Given the description of an element on the screen output the (x, y) to click on. 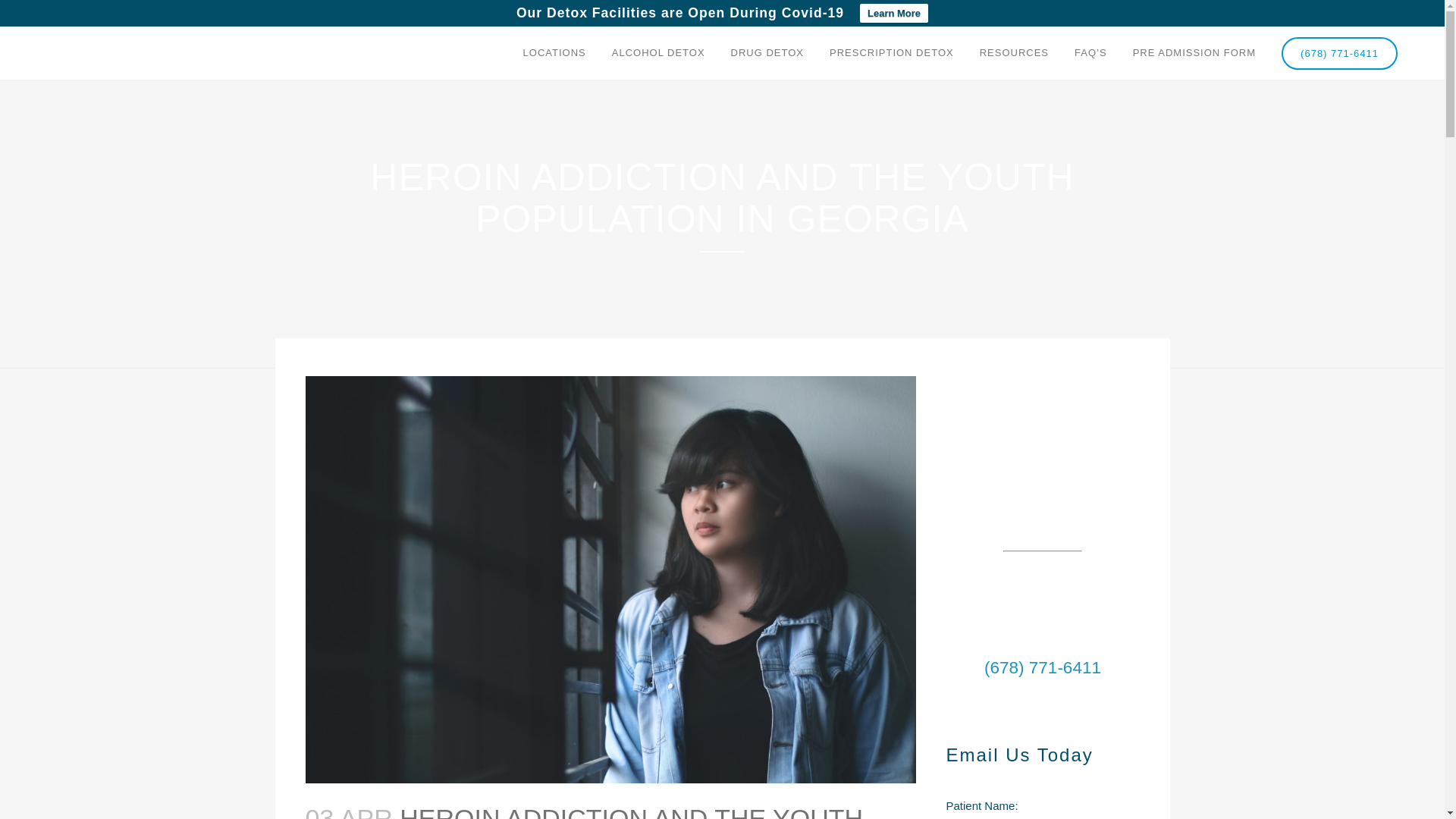
ALCOHOL DETOX (657, 52)
DRUG DETOX (766, 52)
PRESCRIPTION DETOX (891, 52)
Learn More (894, 13)
LOCATIONS (554, 52)
